Given the description of an element on the screen output the (x, y) to click on. 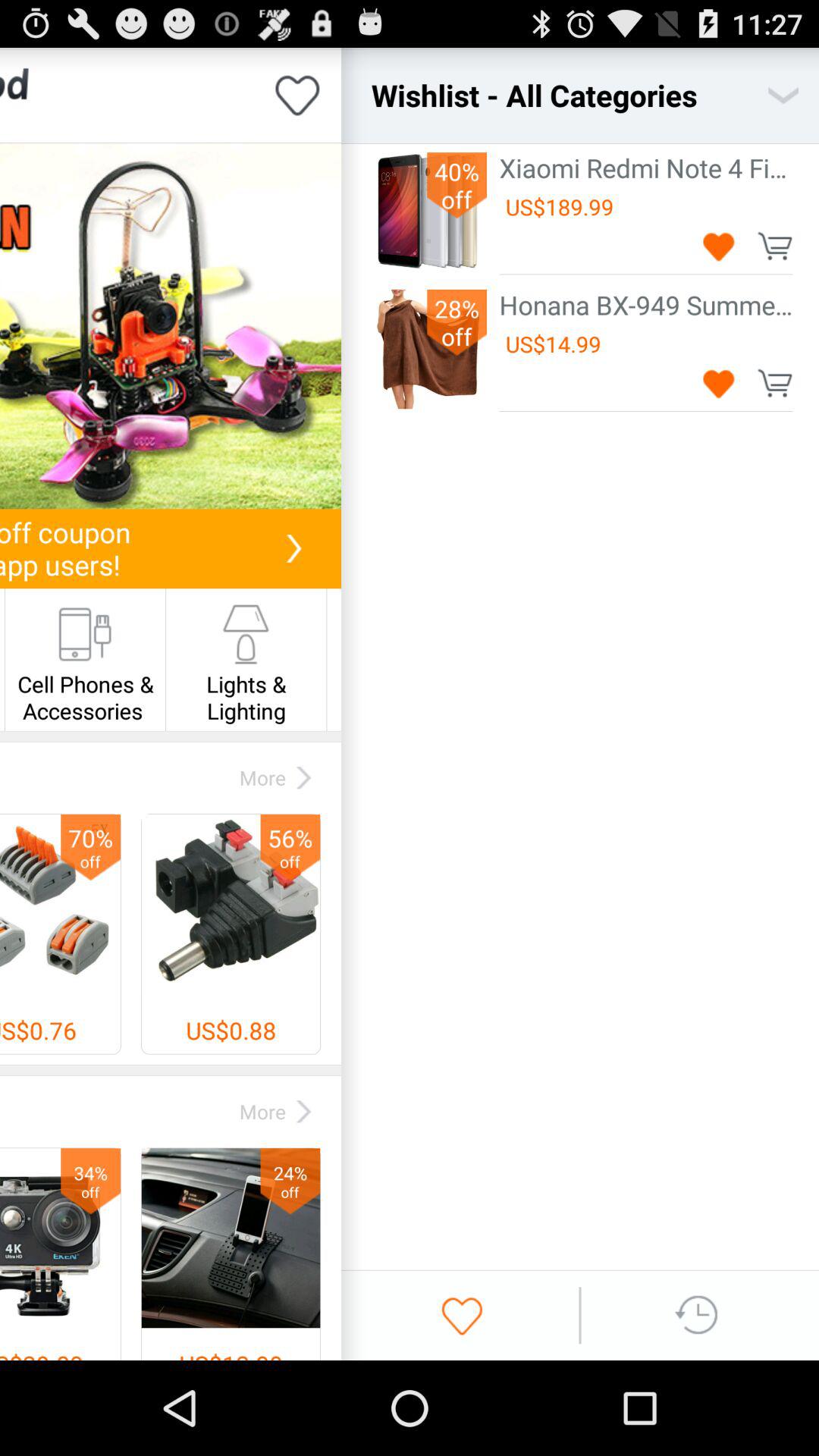
open product page (170, 326)
